Given the description of an element on the screen output the (x, y) to click on. 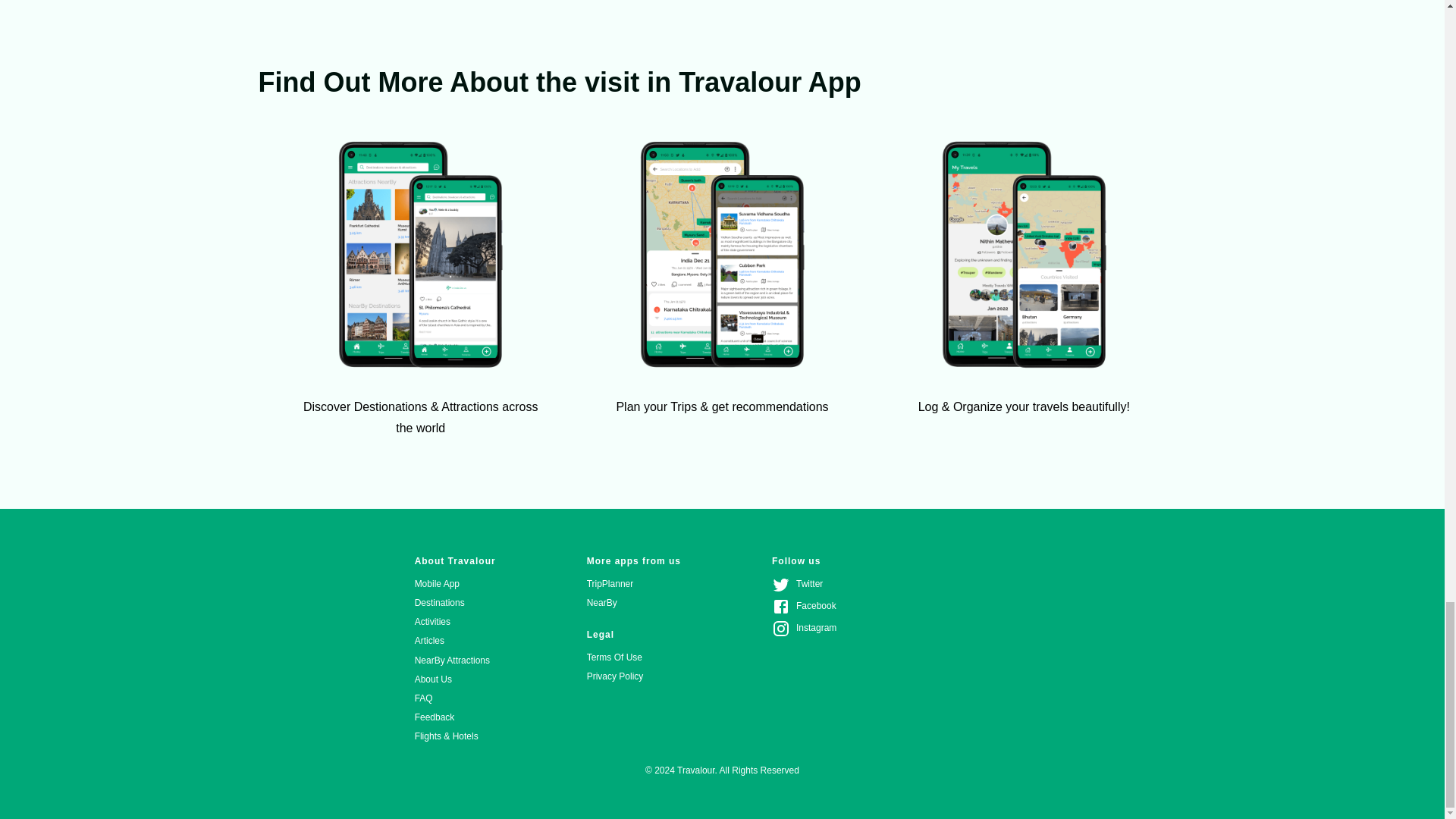
Privacy Policy (633, 676)
Articles (455, 640)
TripPlanner (633, 583)
Twitter (803, 585)
Facebook (803, 608)
Activities (455, 621)
Feedback (455, 717)
Destinations (455, 602)
Instagram (803, 629)
FAQ (455, 698)
